Given the description of an element on the screen output the (x, y) to click on. 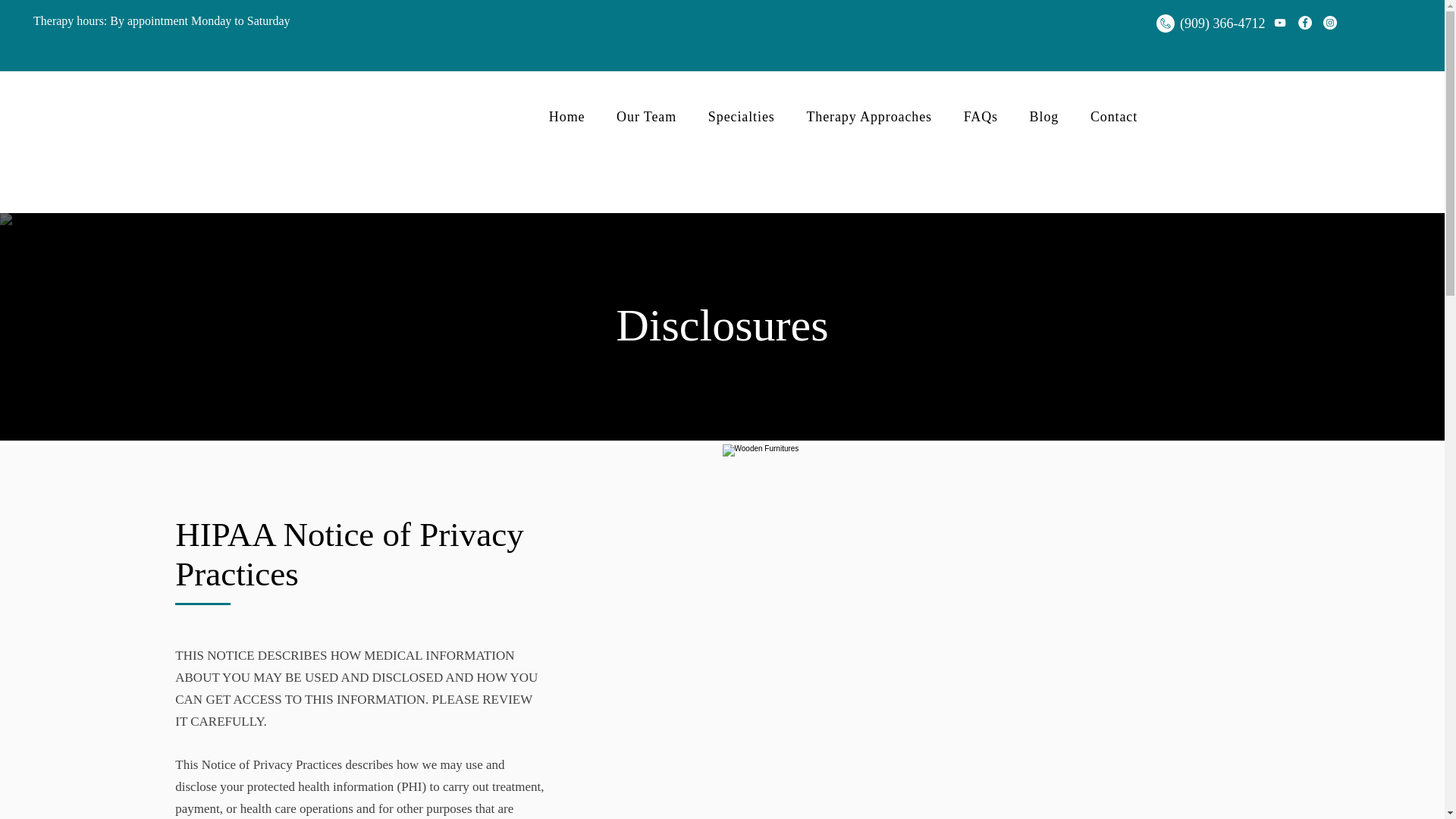
Our Team (646, 116)
FAQs (980, 116)
Contact (1113, 116)
Home (565, 116)
Therapy Approaches (868, 116)
Blog (1043, 116)
Specialties (741, 116)
